Given the description of an element on the screen output the (x, y) to click on. 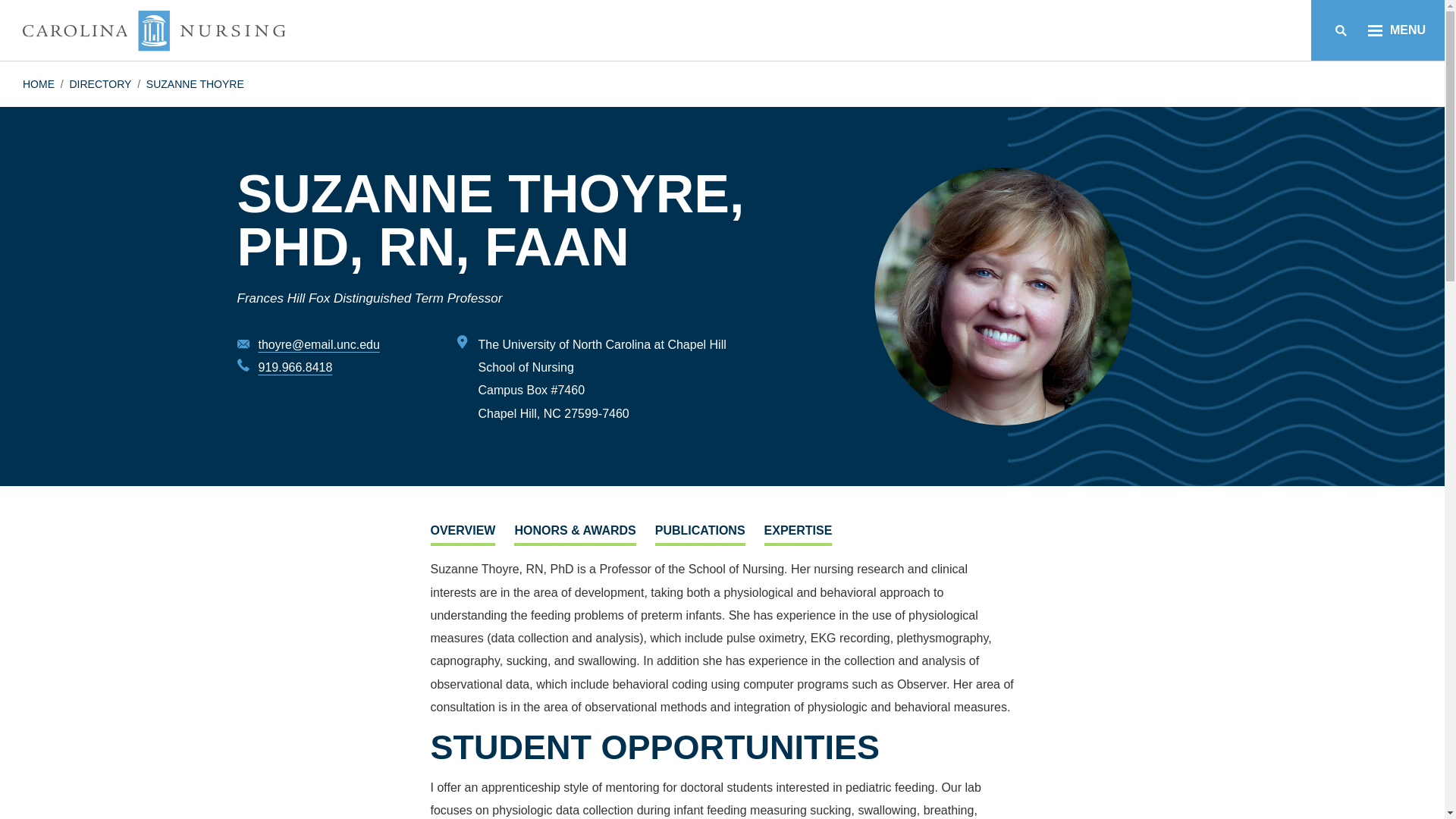
homepage (154, 29)
MENU (1396, 30)
